Given the description of an element on the screen output the (x, y) to click on. 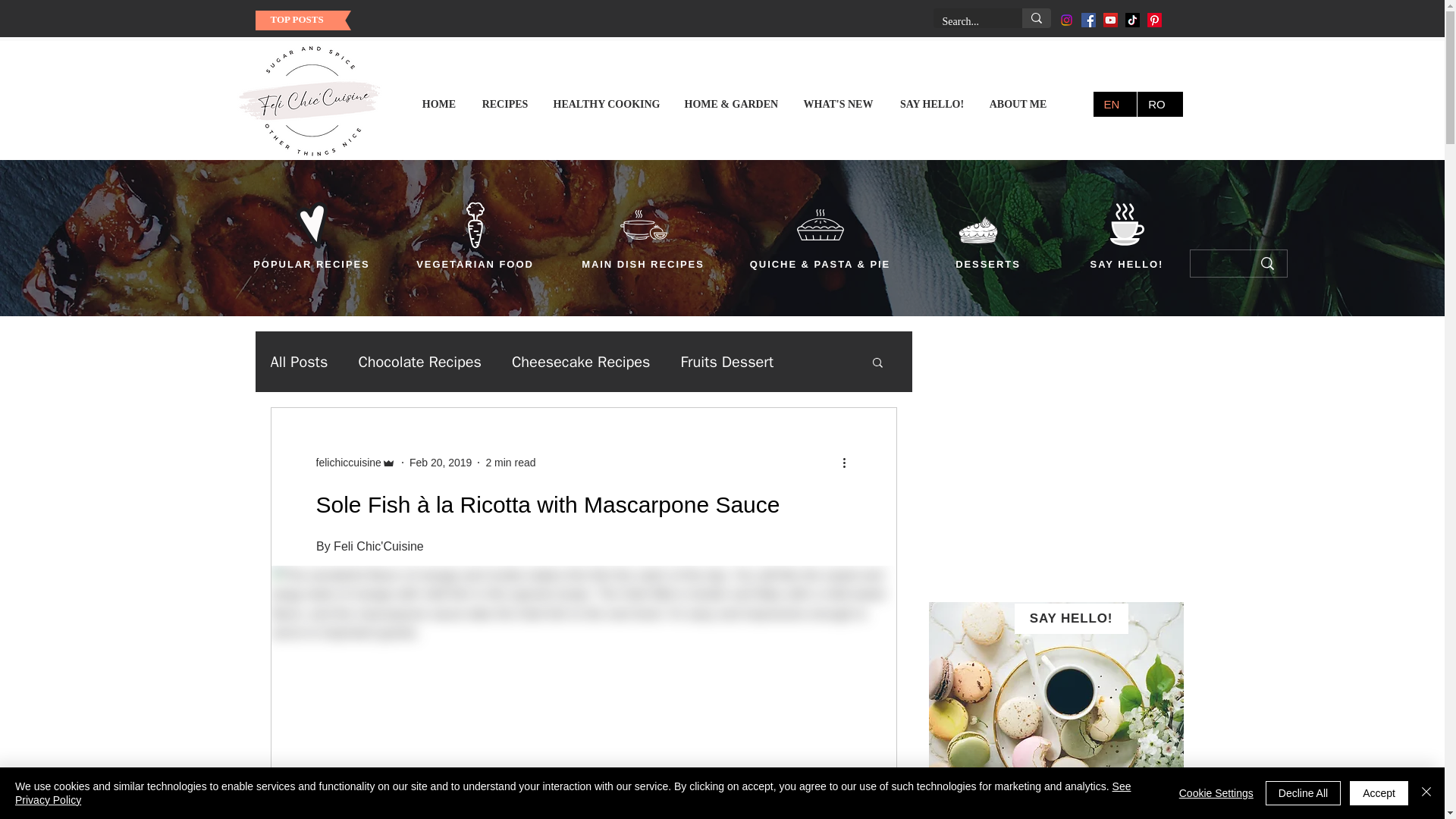
TOP POSTS (296, 19)
Feb 20, 2019 (440, 462)
2 min read (509, 462)
Cheesecake Recipes (581, 362)
SAY HELLO! (1126, 263)
POPULAR RECIPES (311, 263)
felichiccuisine (347, 462)
MAIN DISH RECIPES (643, 263)
All Posts (298, 362)
SAY HELLO! (1071, 618)
